Given the description of an element on the screen output the (x, y) to click on. 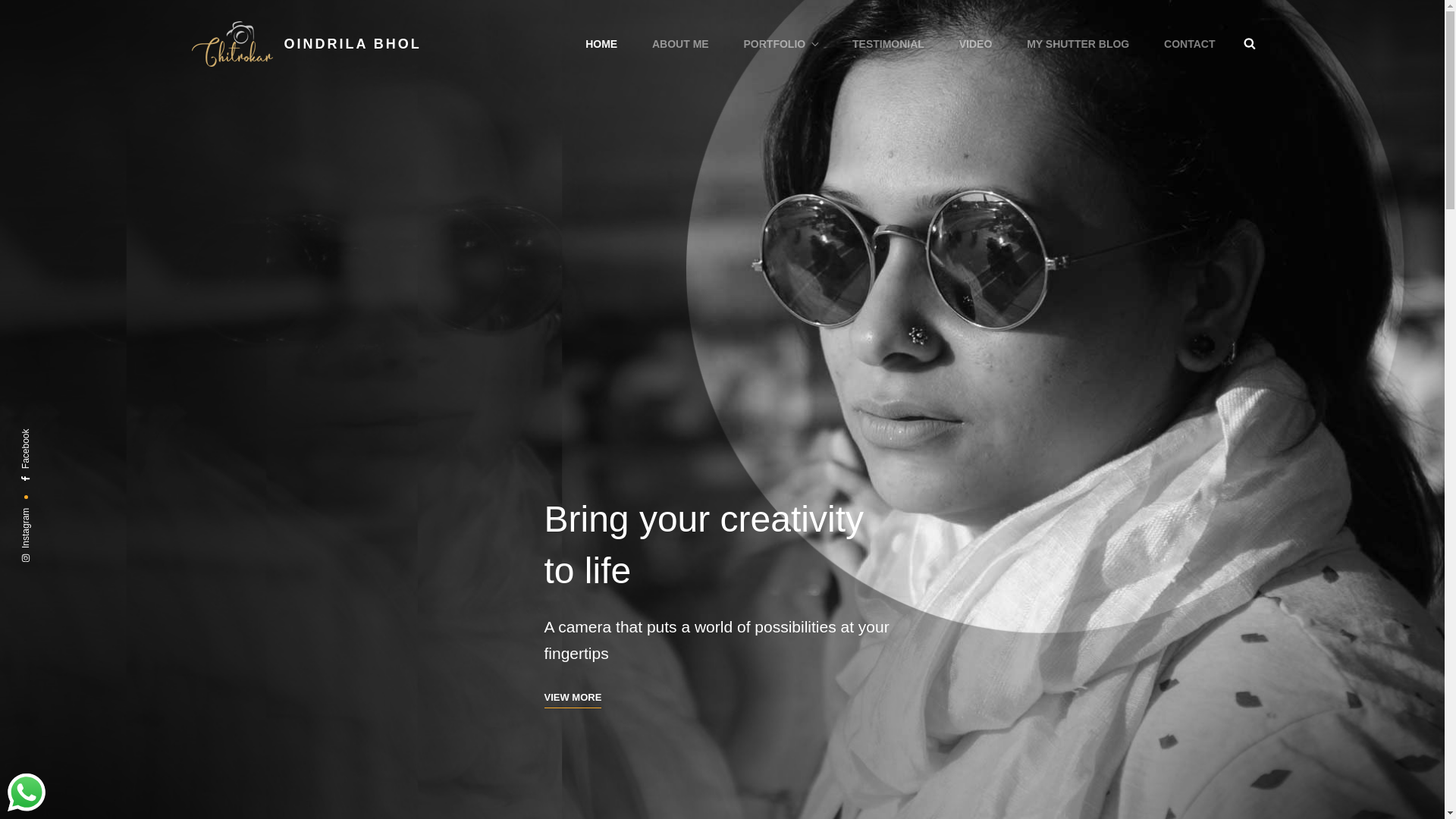
HOME (600, 44)
TESTIMONIAL (888, 44)
PORTFOLIO (780, 44)
ABOUT ME (680, 44)
OINDRILA BHOL (351, 43)
WhatsApp (26, 792)
CONTACT (1189, 44)
SEARCH (1249, 43)
MY SHUTTER BLOG (1077, 44)
VIDEO (975, 44)
